Given the description of an element on the screen output the (x, y) to click on. 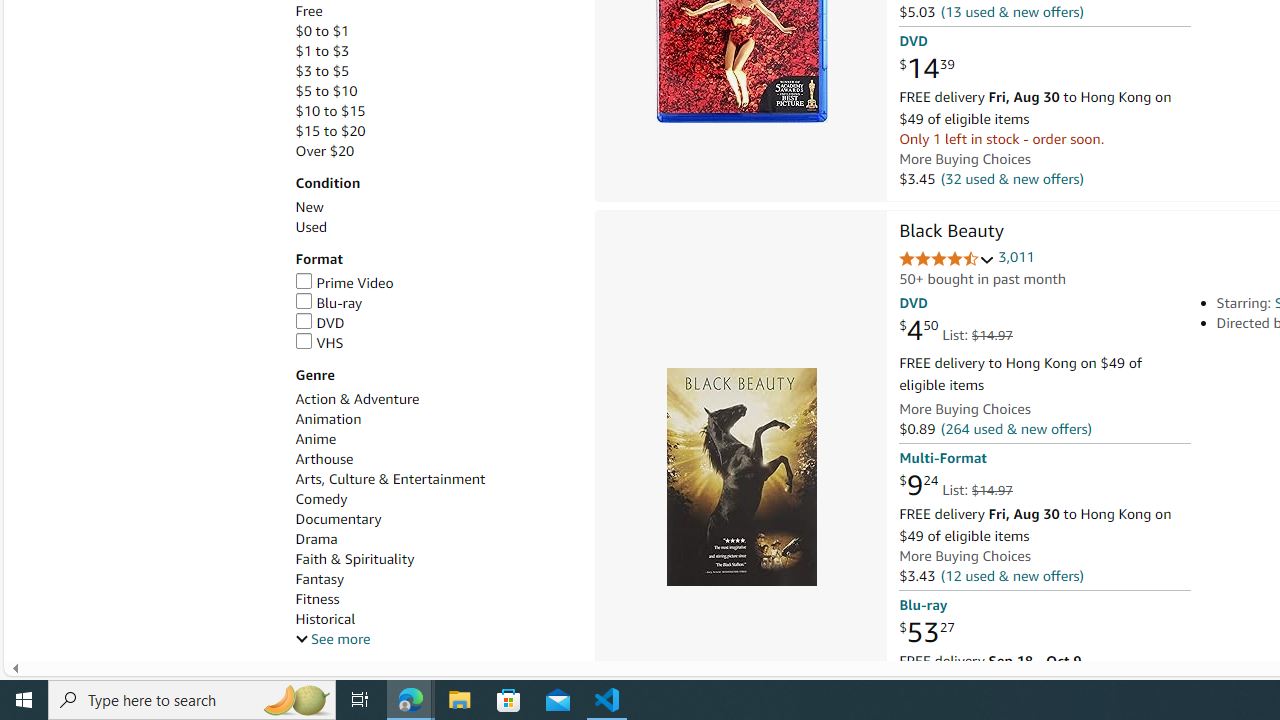
Over $20 (324, 151)
Free (308, 11)
(32 used & new offers) (1011, 178)
Over $20 (434, 151)
Documentary (337, 519)
$4.50 List: $14.97 (955, 331)
See more, Genre (332, 639)
$5 to $10 (434, 91)
$9.24 List: $14.97 (955, 485)
Faith & Spirituality (434, 559)
Animation (328, 419)
Animation (434, 419)
Skip to main search results (88, 651)
Black Beauty (740, 476)
Action & Adventure (434, 399)
